Given the description of an element on the screen output the (x, y) to click on. 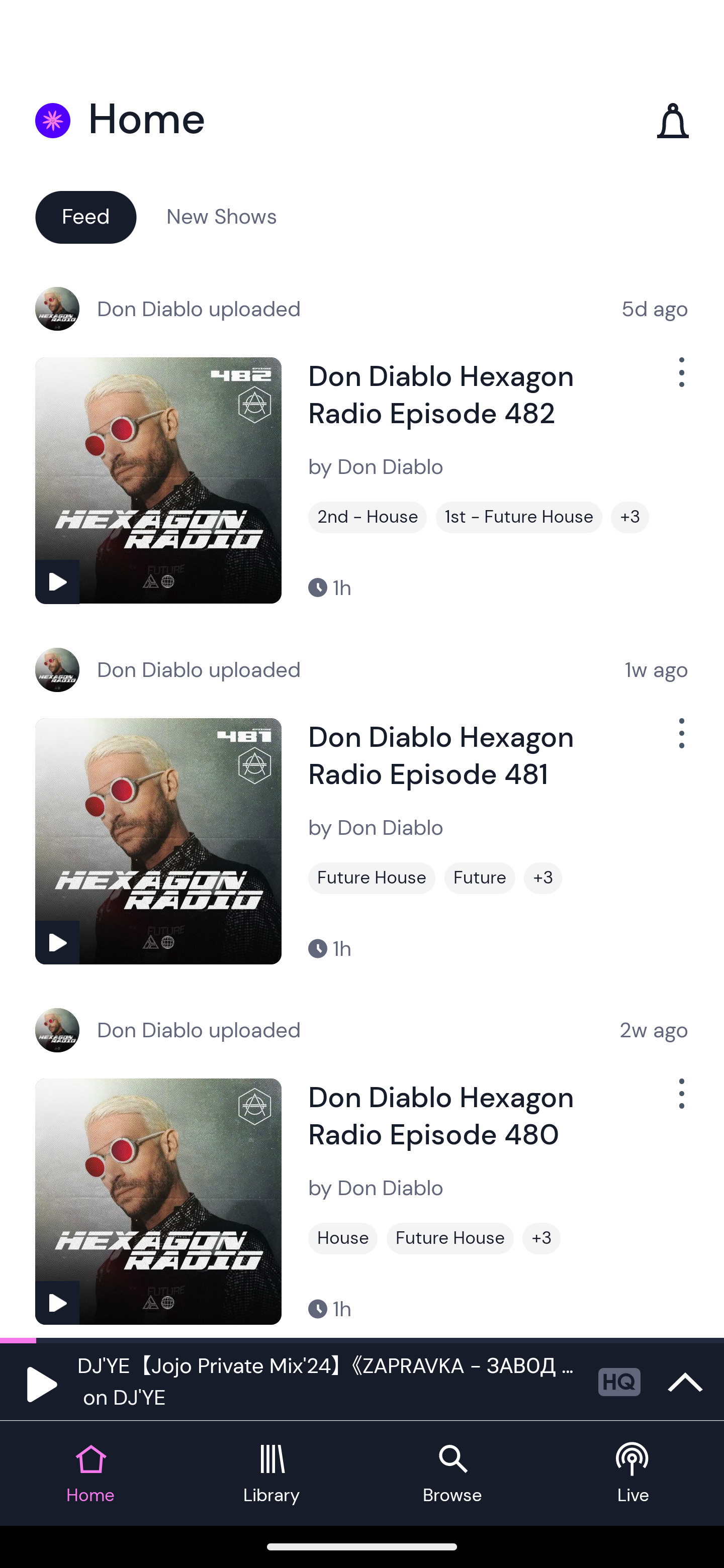
Feed (85, 216)
New Shows (221, 216)
Show Options Menu Button (679, 379)
2nd - House (367, 517)
1st - Future House (518, 517)
Show Options Menu Button (679, 740)
Future House (371, 877)
Future (479, 877)
Show Options Menu Button (679, 1101)
House (342, 1238)
Future House (450, 1238)
Home tab Home (90, 1473)
Library tab Library (271, 1473)
Browse tab Browse (452, 1473)
Live tab Live (633, 1473)
